Given the description of an element on the screen output the (x, y) to click on. 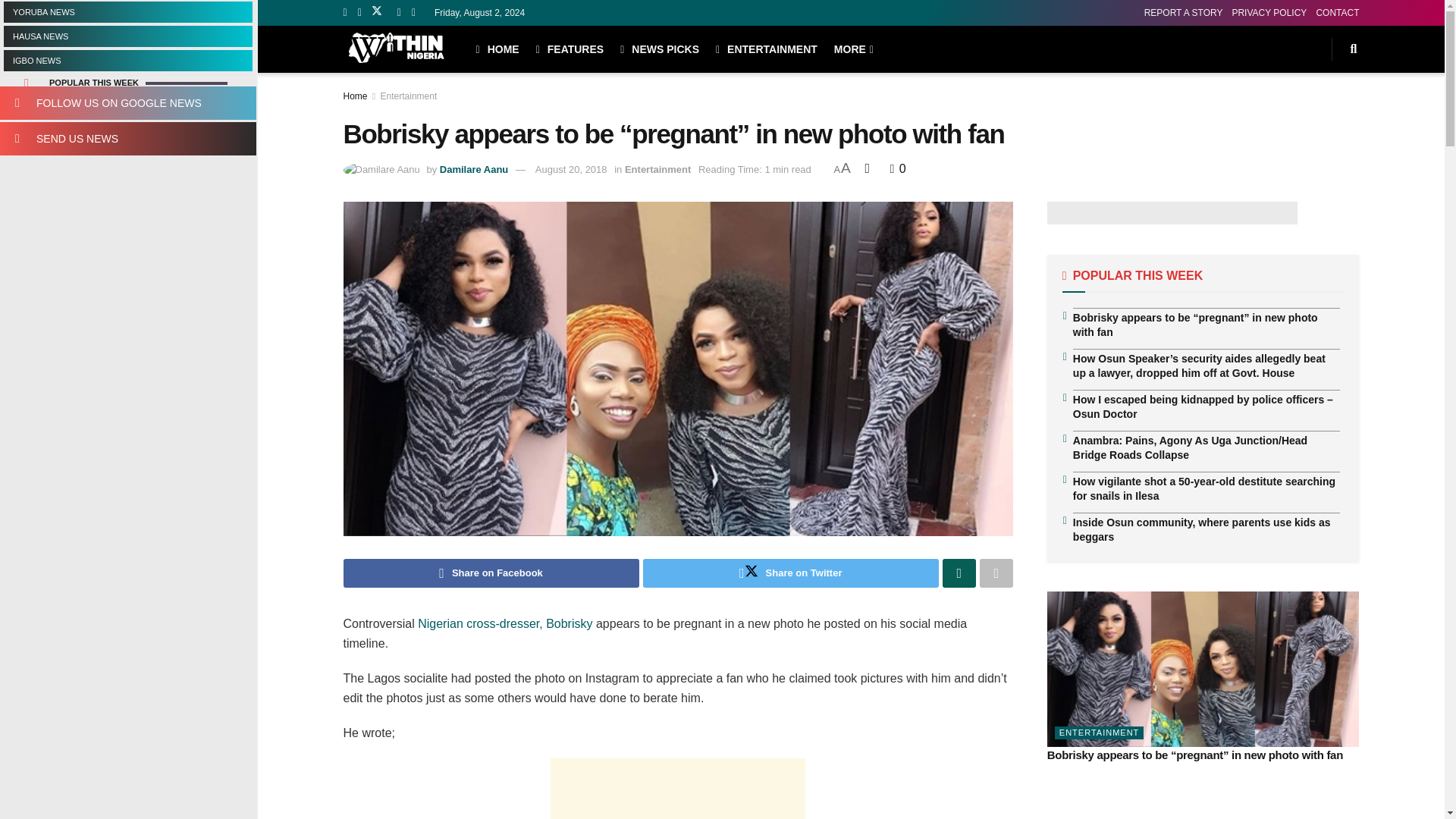
ENTERTAINMENT (766, 48)
HOME (497, 48)
PRIVACY POLICY (1268, 12)
WITHIN NIGERIA ON GOOGLE NEWS (128, 102)
REPORT A STORY (1183, 12)
FEATURES (569, 48)
HAUSA NEWS (127, 35)
IGBO NEWS (127, 60)
CONTACT (1337, 12)
YORUBA NEWS (127, 11)
Advertisement (677, 788)
IGBO NEWS (127, 60)
NEWS PICKS (659, 48)
YORUBA NEWS (127, 11)
FOLLOW US ON GOOGLE NEWS (128, 102)
